Given the description of an element on the screen output the (x, y) to click on. 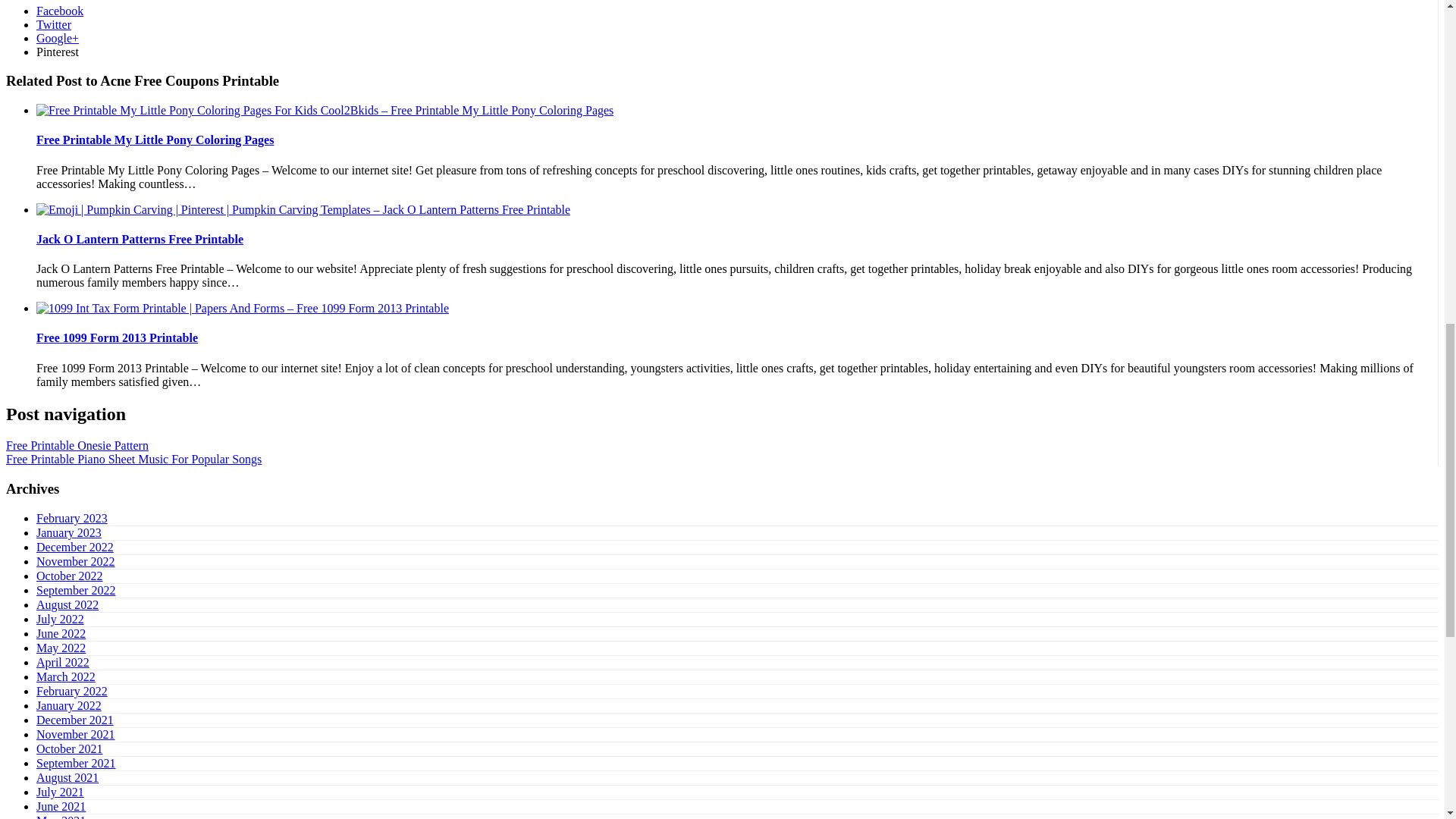
February 2023 (71, 517)
Free Printable My Little Pony Coloring Pages (154, 139)
Free Printable Onesie Pattern (76, 445)
Free Printable My Little Pony Coloring Pages (324, 110)
November 2022 (75, 561)
Jack O Lantern Patterns Free Printable (303, 209)
Free 1099 Form 2013 Printable (117, 337)
October 2022 (69, 575)
December 2022 (74, 546)
September 2021 (75, 762)
August 2021 (67, 777)
Free Printable Piano Sheet Music For Popular Songs (133, 459)
June 2022 (60, 633)
May 2022 (60, 647)
November 2021 (75, 734)
